Given the description of an element on the screen output the (x, y) to click on. 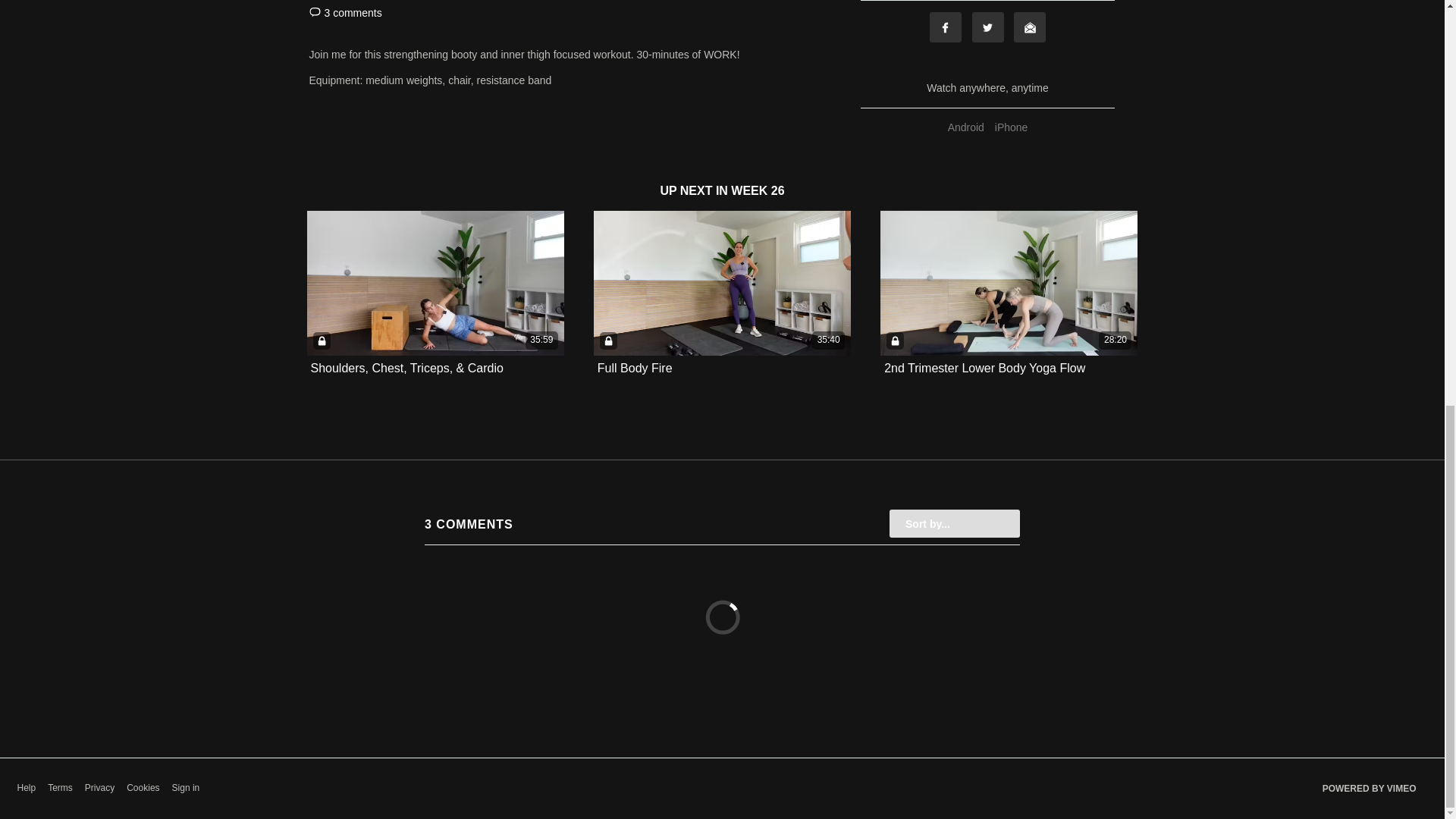
Twitter (988, 27)
28:20 (1008, 282)
Help (25, 788)
View Latest Comments (344, 12)
Cookies (142, 788)
2nd Trimester Lower Body Yoga Flow (983, 368)
Email (1029, 27)
Facebook (945, 27)
Full Body Fire (634, 367)
iPhone (1011, 127)
